Given the description of an element on the screen output the (x, y) to click on. 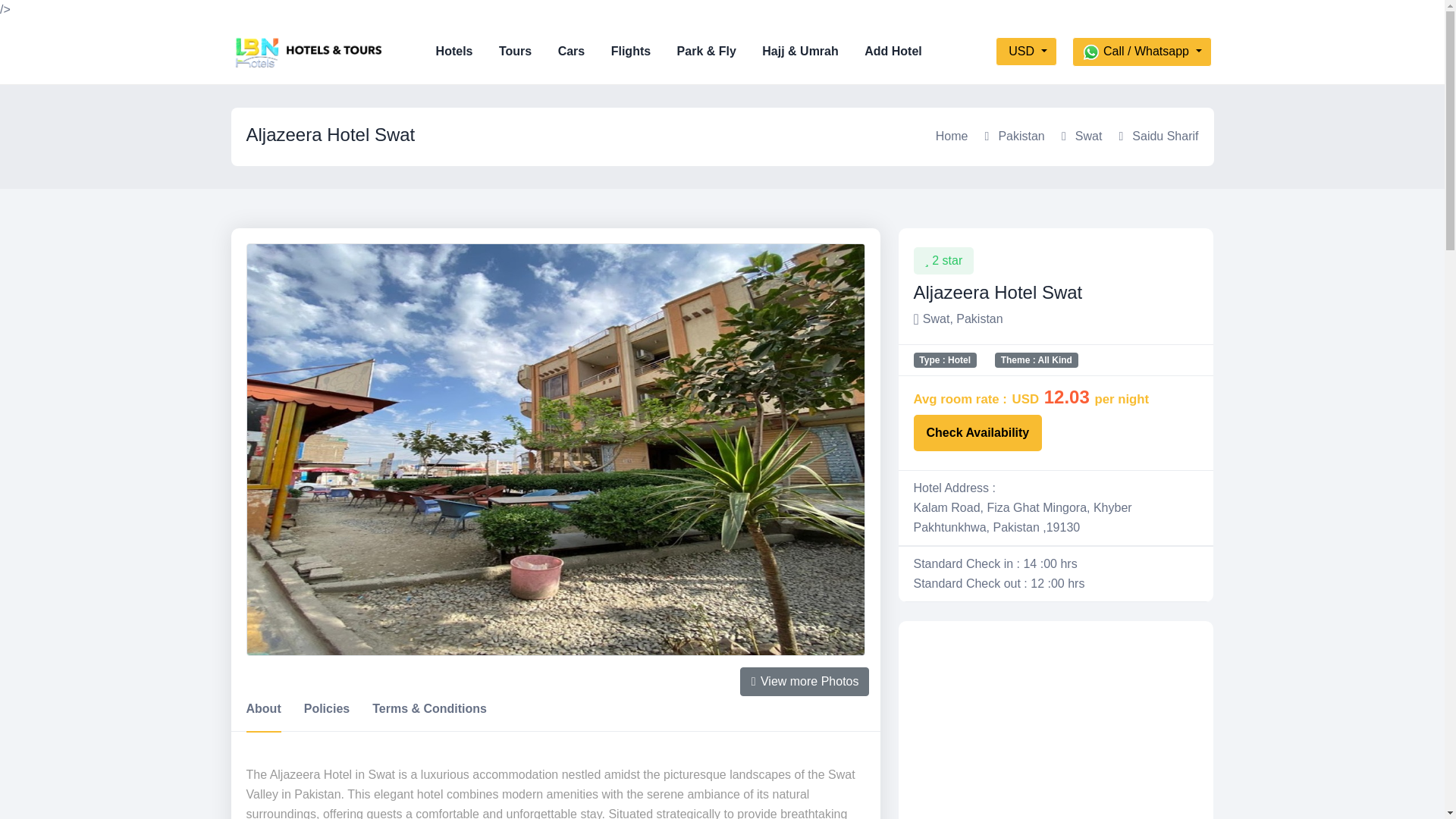
Pakistan (1020, 135)
Check Availability (977, 432)
Tours (526, 50)
Cars (582, 50)
Saidu Sharif (1165, 135)
View more Photos (804, 681)
USD (1026, 51)
Home (952, 135)
Add Hotel (904, 50)
Flights (641, 50)
Hotels (465, 50)
Swat (1088, 135)
